Given the description of an element on the screen output the (x, y) to click on. 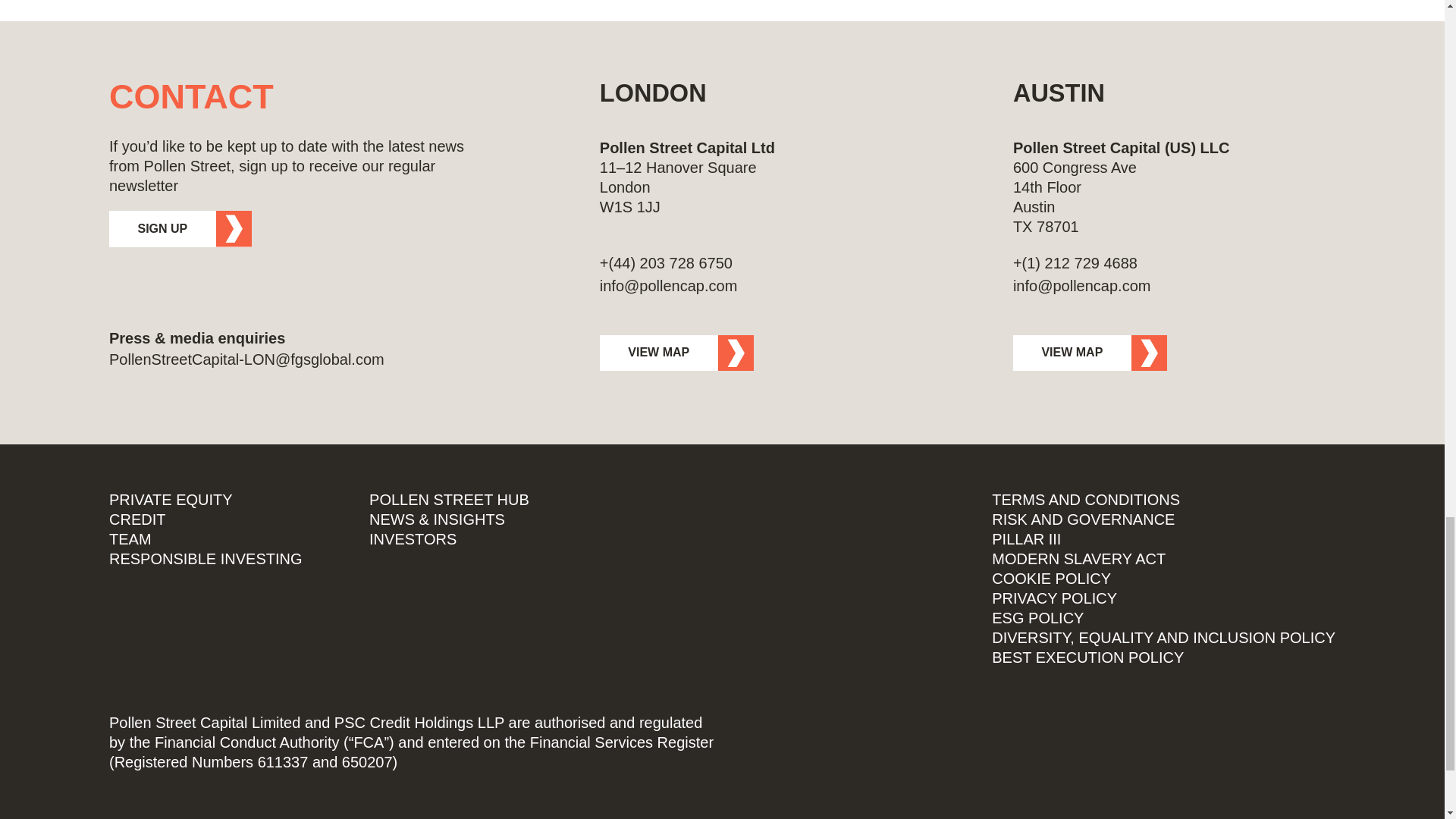
SIGN UP (180, 228)
CREDIT (137, 519)
TEAM (130, 538)
Email (760, 285)
TERMS AND CONDITIONS (1085, 499)
PRIVATE EQUITY (170, 499)
RISK AND GOVERNANCE (1082, 519)
VIEW MAP (1090, 352)
Phone number (760, 262)
RESPONSIBLE INVESTING (205, 558)
